Given the description of an element on the screen output the (x, y) to click on. 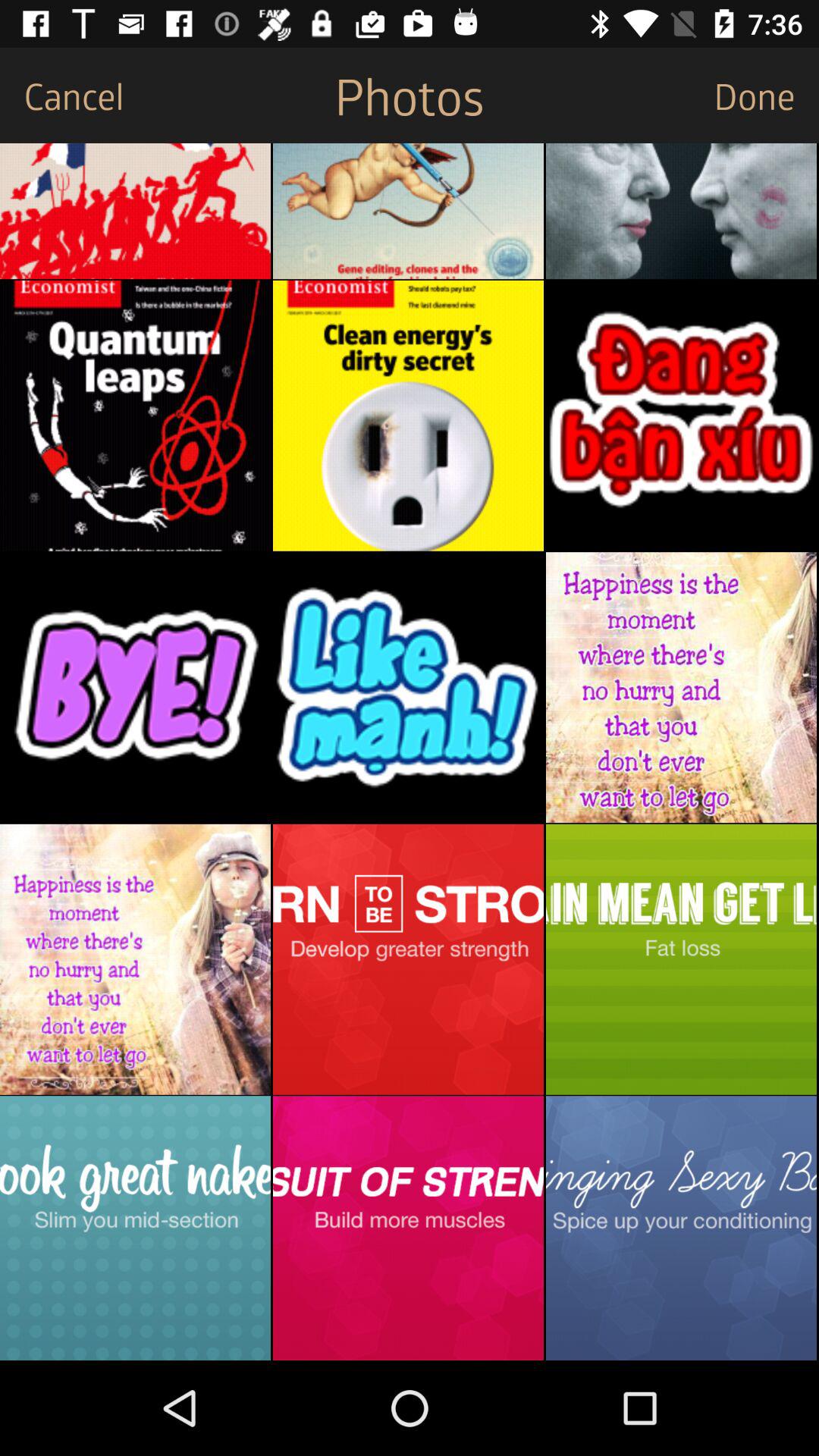
choose photo option (135, 211)
